Given the description of an element on the screen output the (x, y) to click on. 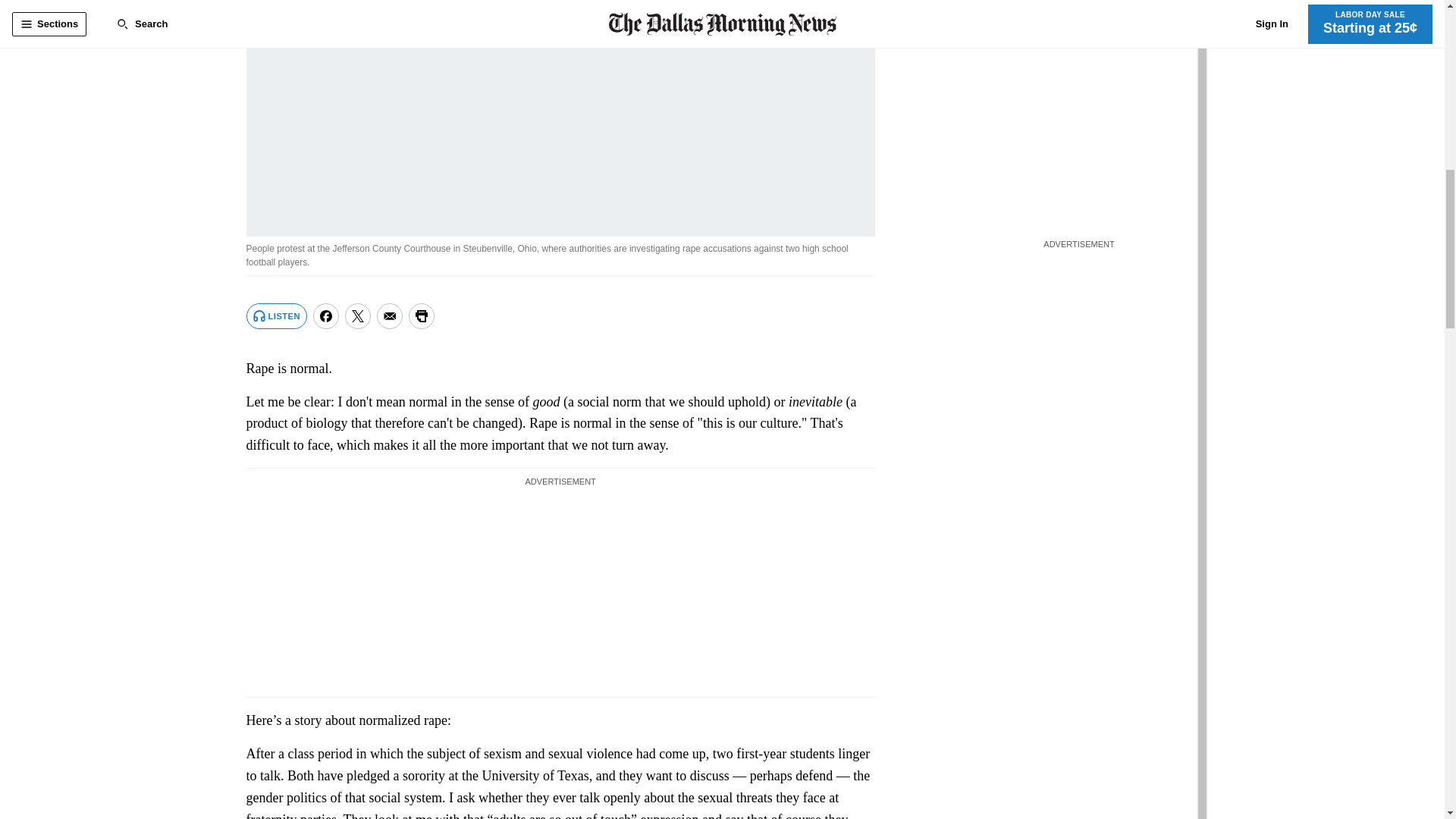
Share on Twitter (358, 316)
Share on Facebook (326, 316)
Share via Email (390, 316)
Print (421, 316)
